Given the description of an element on the screen output the (x, y) to click on. 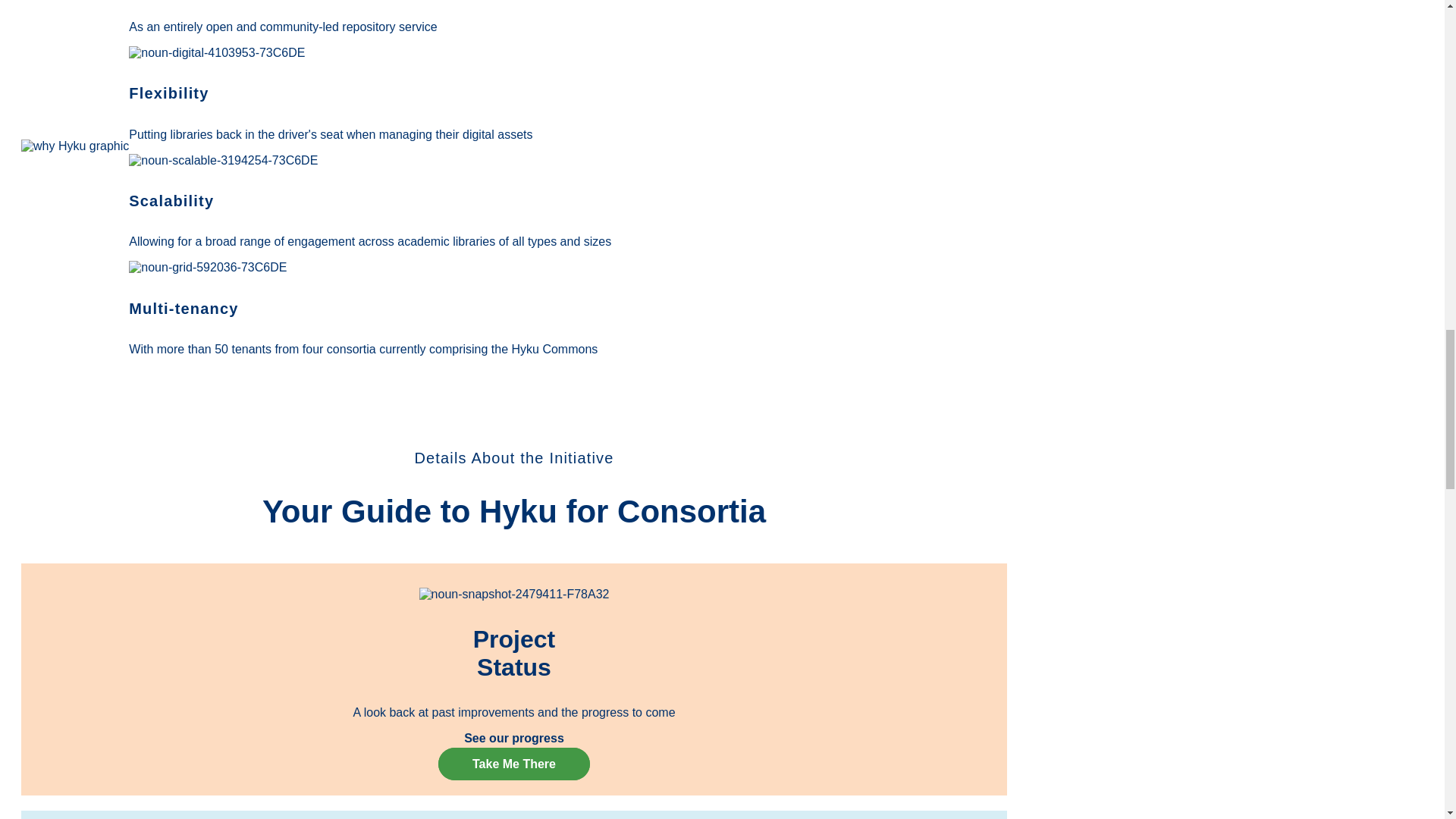
noun-digital-4103953-73C6DE (216, 52)
Take Me There (513, 763)
noun-scalable-3194254-73C6DE (223, 160)
noun-snapshot-2479411-F78A32 (514, 594)
why Hyku graphic (75, 146)
noun-grid-592036-73C6DE (207, 267)
